Given the description of an element on the screen output the (x, y) to click on. 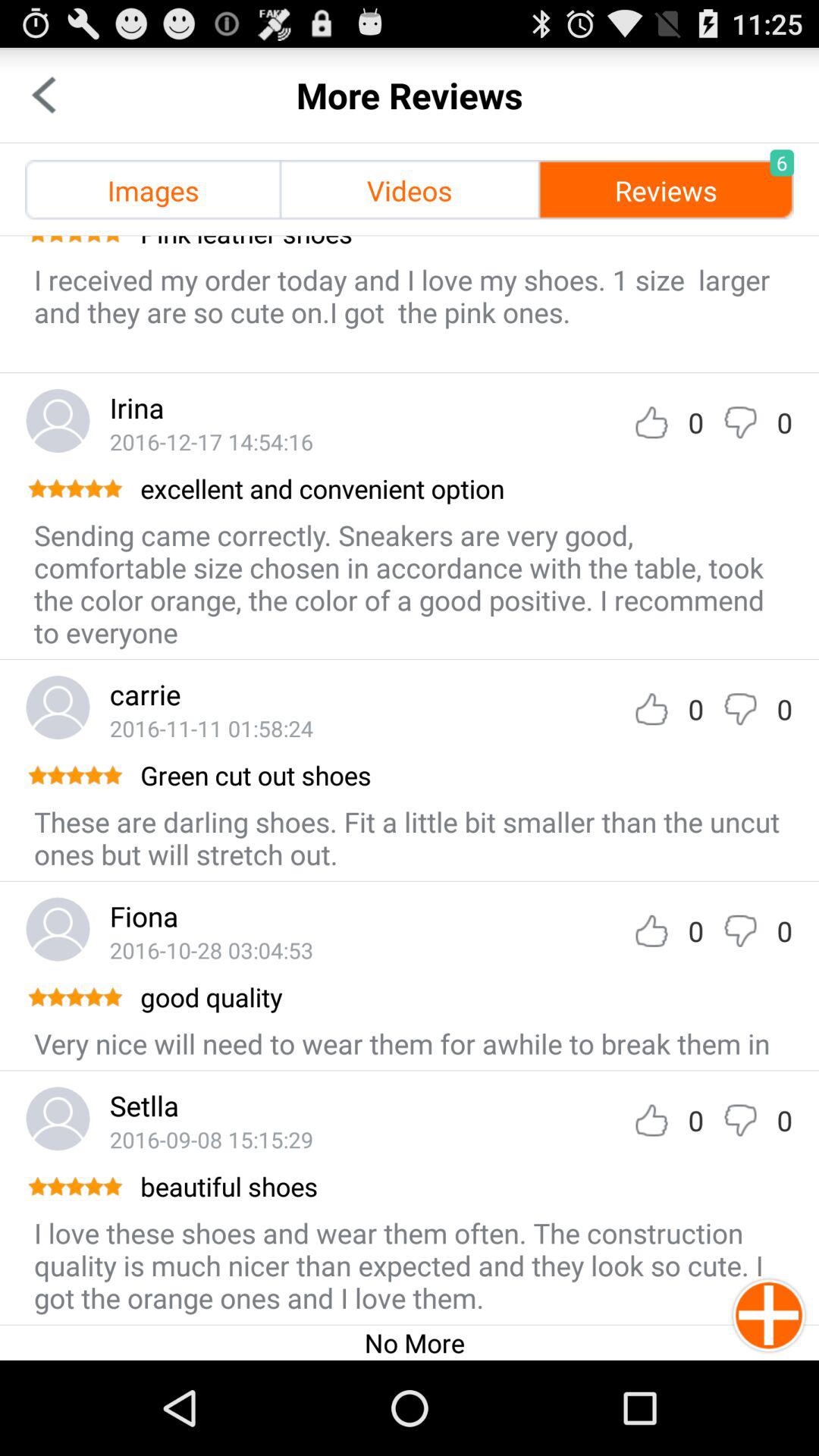
unlike review (740, 422)
